Given the description of an element on the screen output the (x, y) to click on. 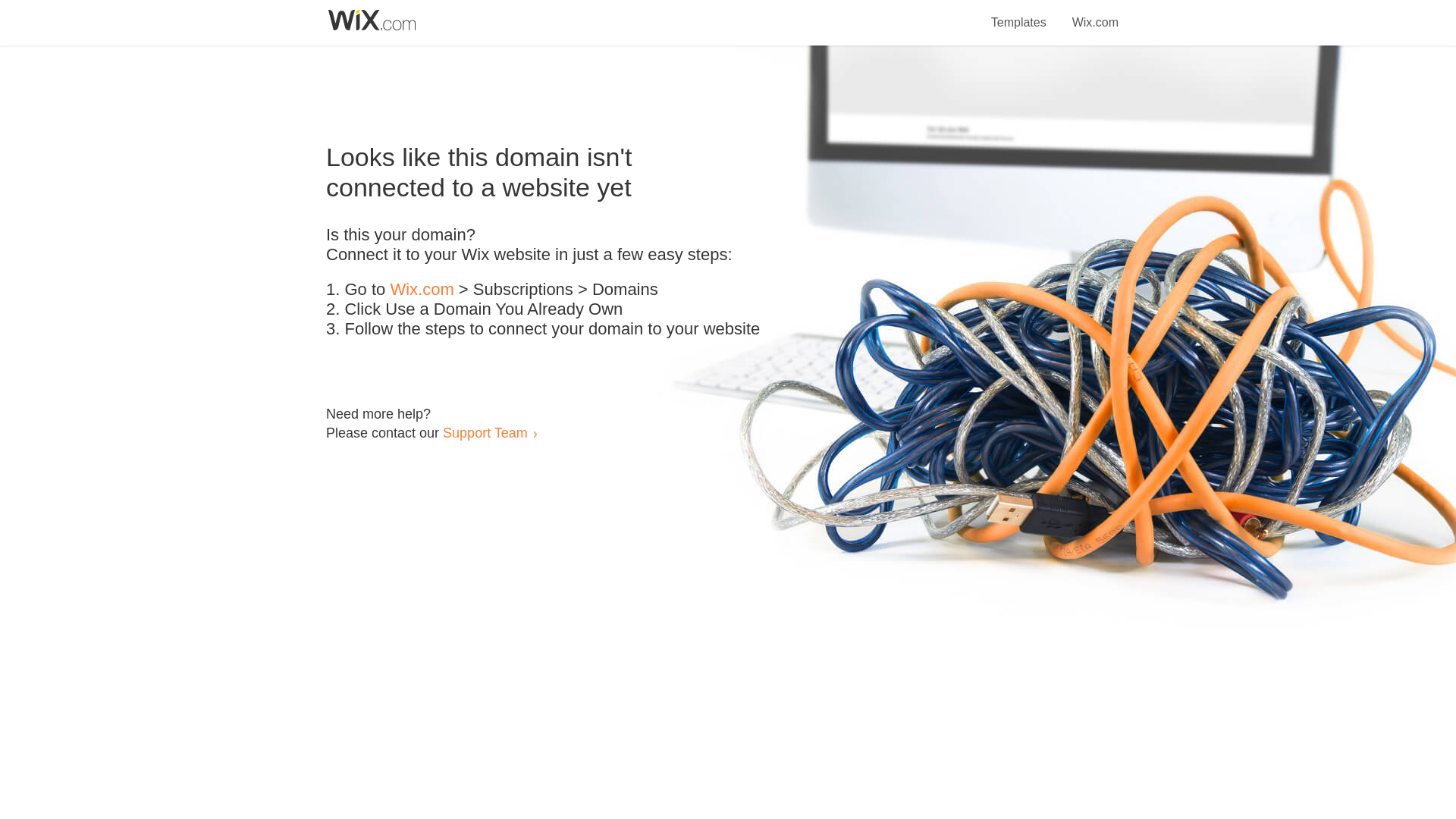
Support Team (484, 432)
Templates (1018, 14)
Wix.com (421, 289)
Wix.com (1095, 14)
